Given the description of an element on the screen output the (x, y) to click on. 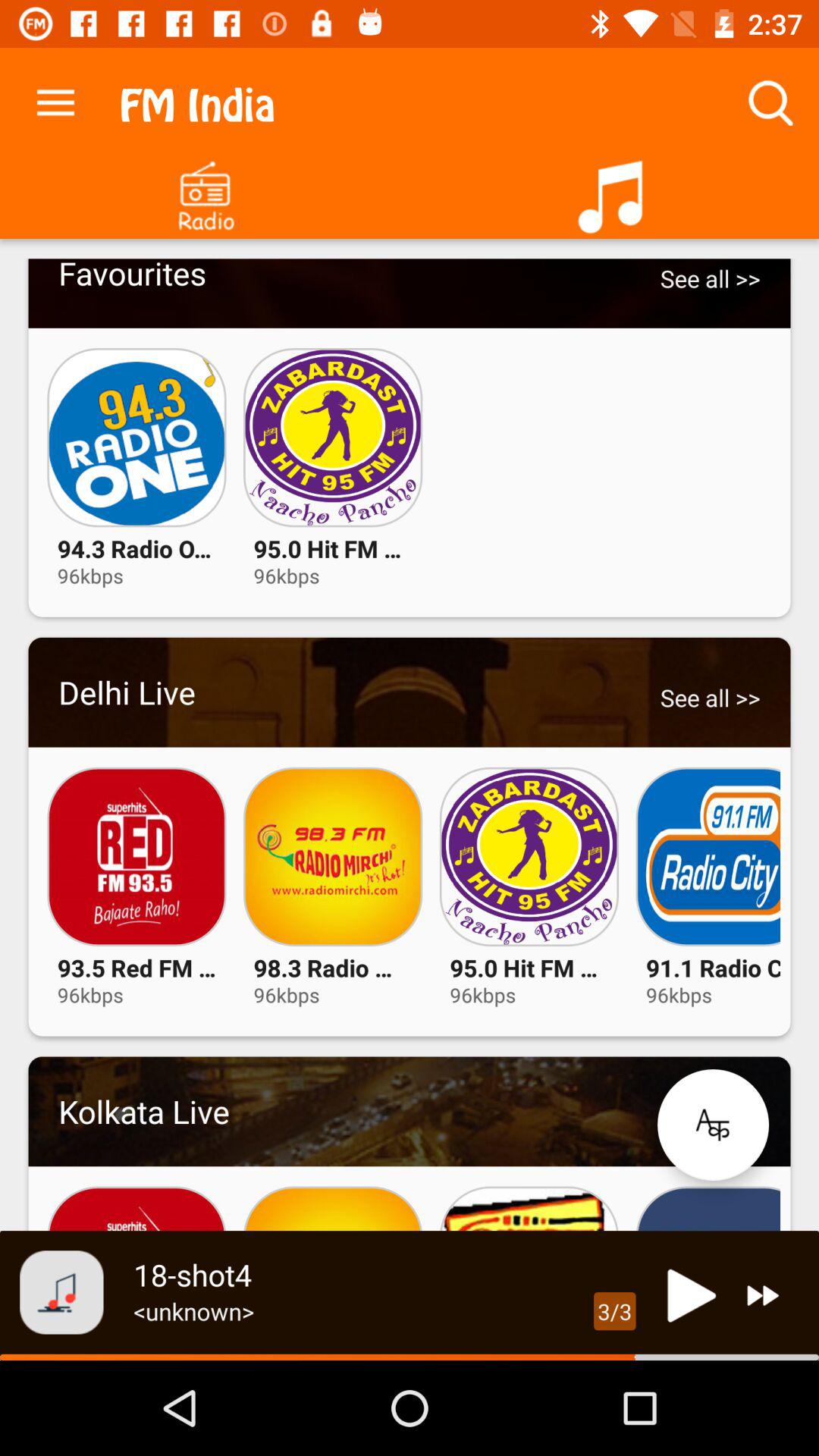
go to radio (204, 190)
